Given the description of an element on the screen output the (x, y) to click on. 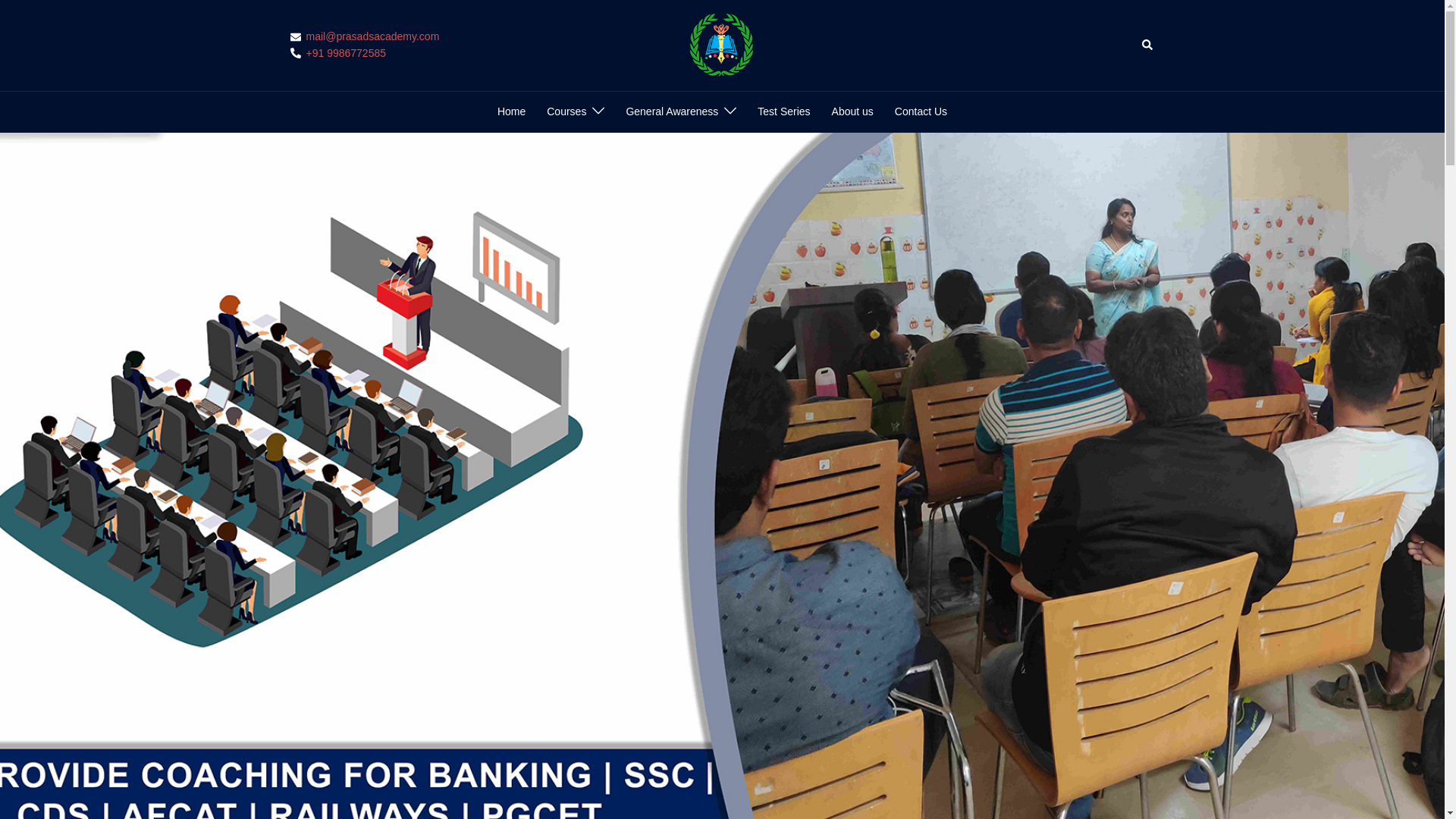
Home (511, 112)
Contact Us (921, 112)
About us (852, 112)
Courses (566, 112)
Test Series (783, 112)
General Awareness (671, 112)
